Given the description of an element on the screen output the (x, y) to click on. 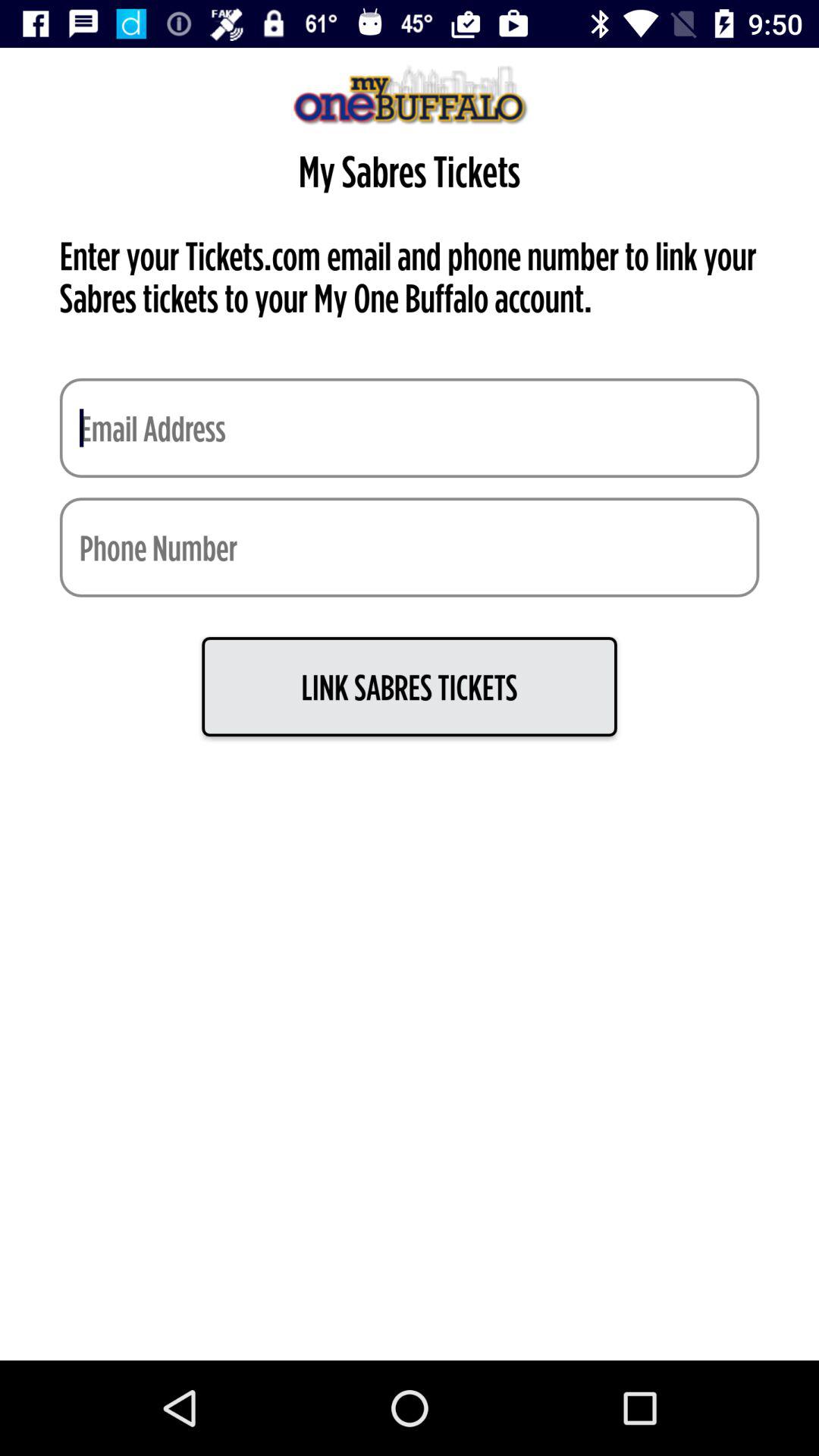
input email address (409, 427)
